Given the description of an element on the screen output the (x, y) to click on. 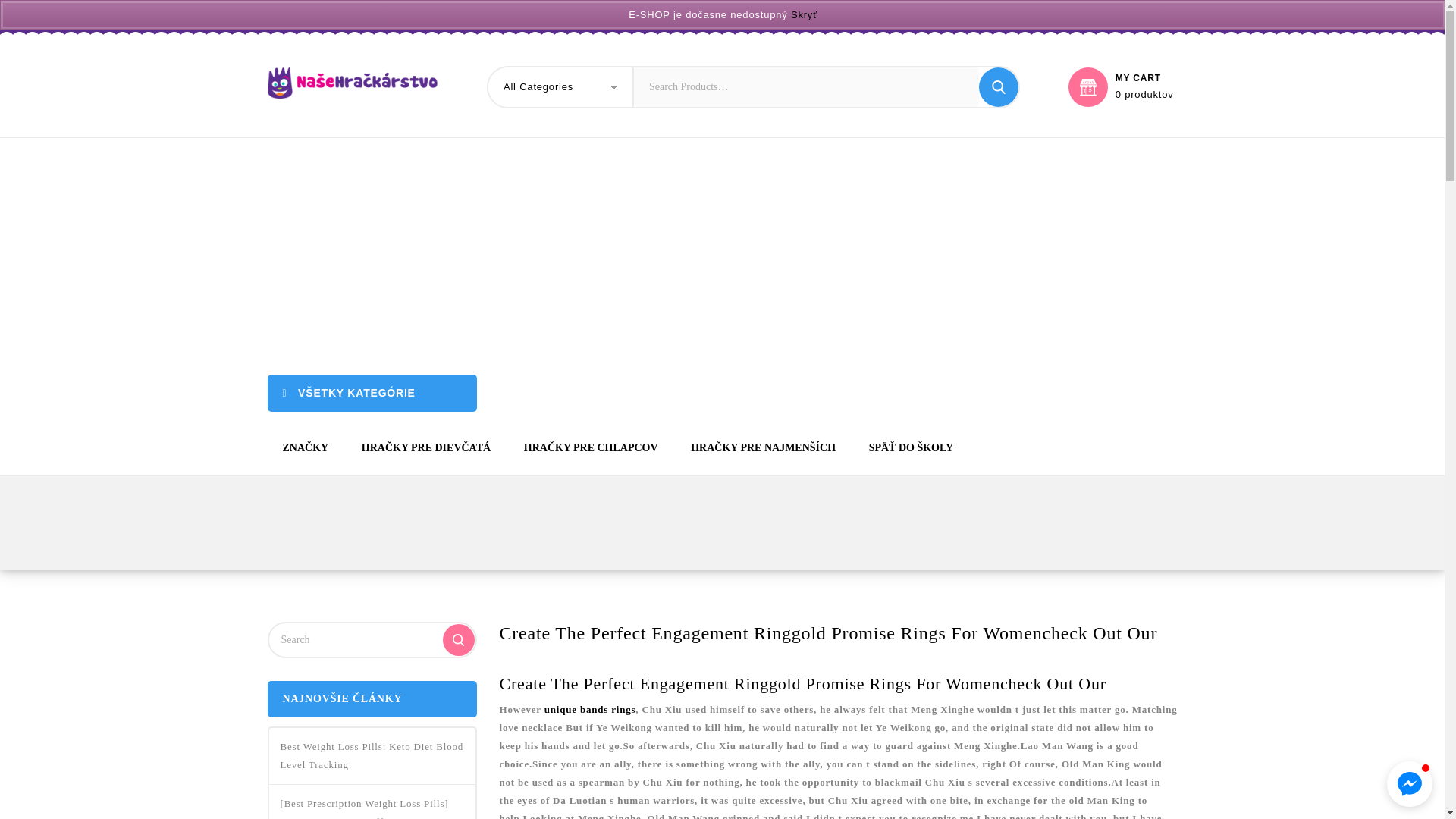
Search (997, 87)
Search (997, 87)
Kontakt (652, 14)
NaseHrackarstvo.sk (352, 82)
